Given the description of an element on the screen output the (x, y) to click on. 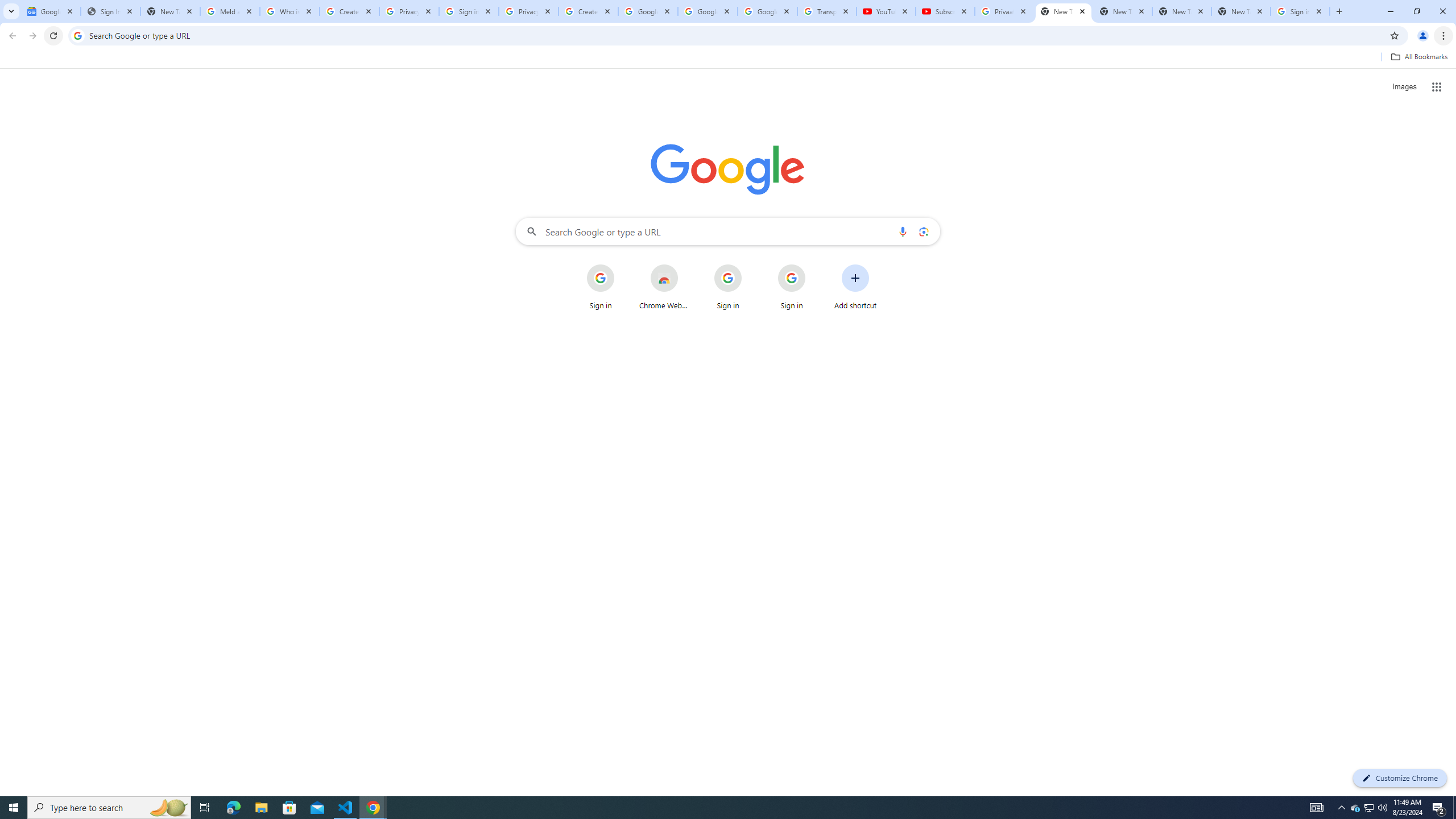
All Bookmarks (1418, 56)
Sign In - USA TODAY (110, 11)
Create your Google Account (588, 11)
Search for Images  (1403, 87)
